Given the description of an element on the screen output the (x, y) to click on. 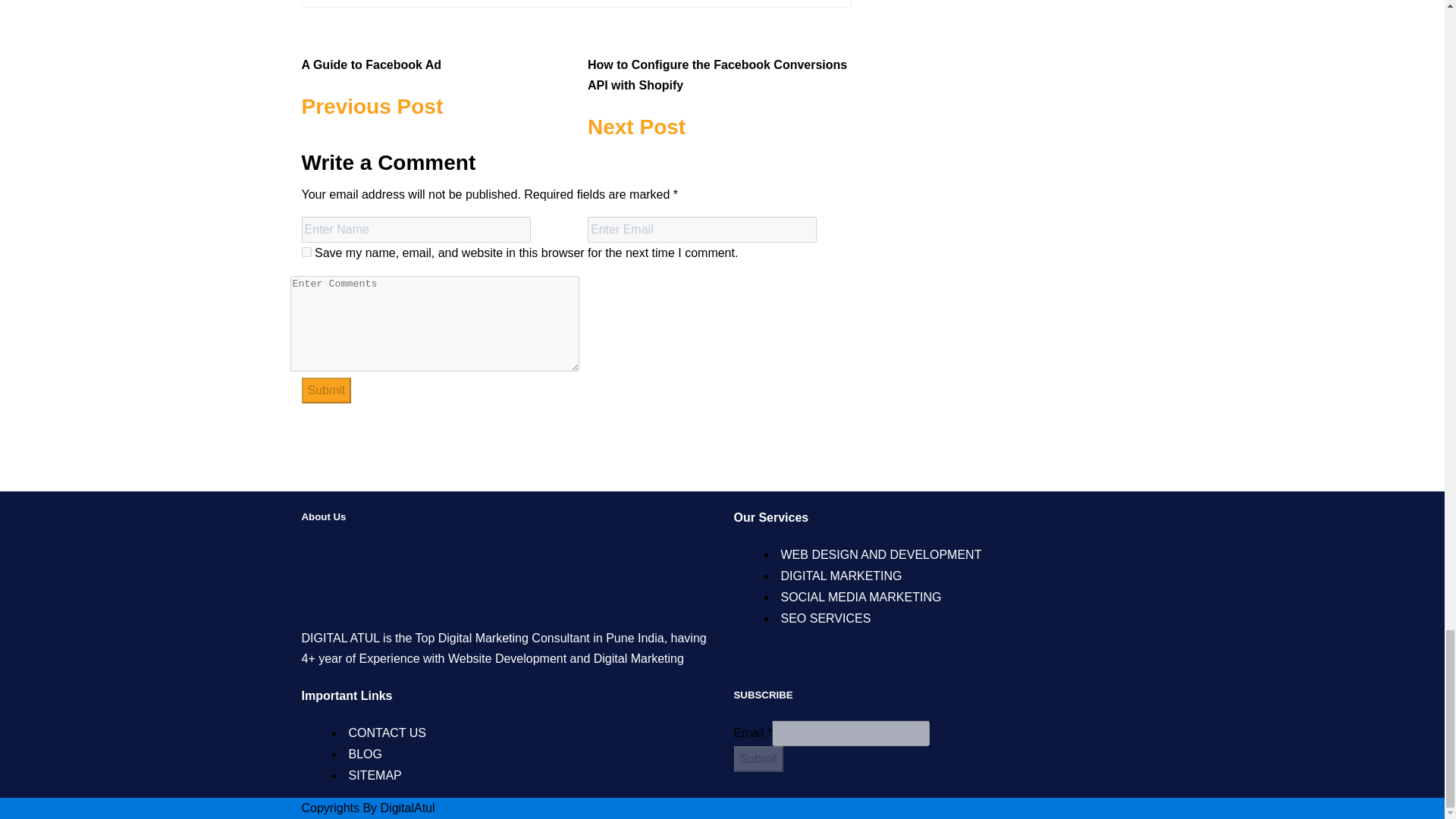
Submit (326, 390)
Submit (433, 78)
yes (326, 390)
